Given the description of an element on the screen output the (x, y) to click on. 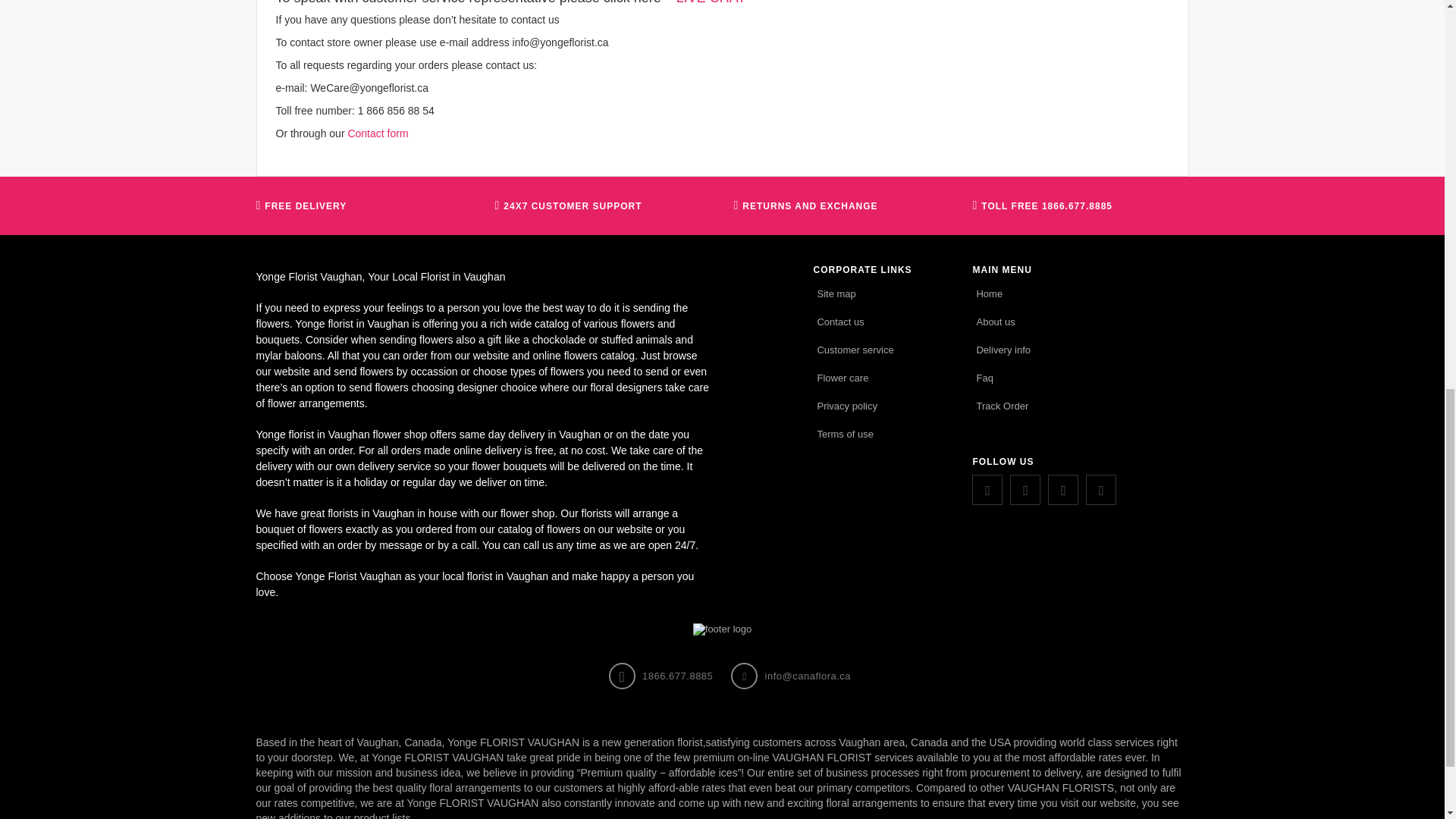
LIVE CHAT (711, 2)
Contact form (377, 133)
Site map (836, 293)
